Given the description of an element on the screen output the (x, y) to click on. 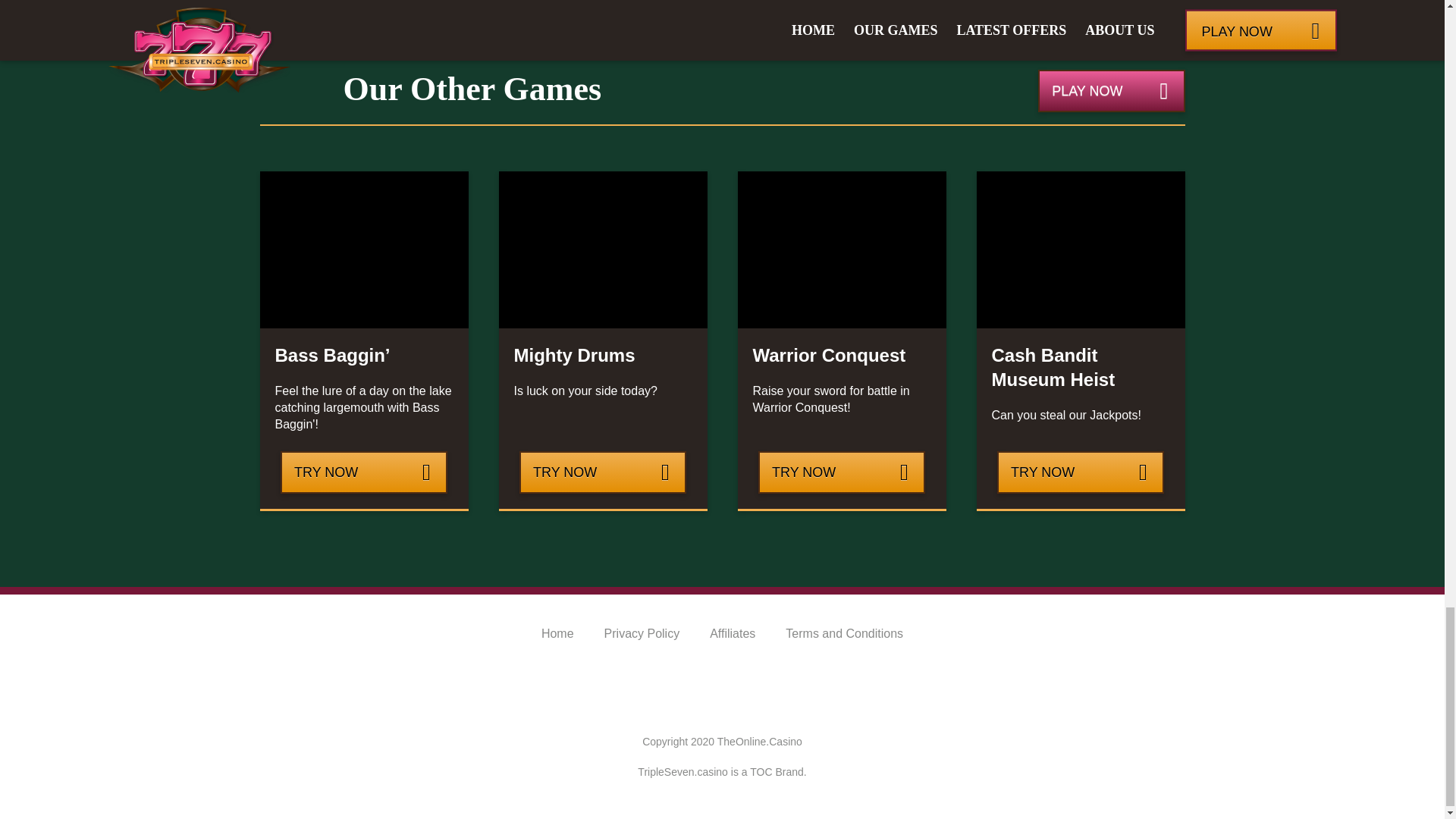
TRY NOW (602, 472)
TRY NOW (363, 472)
Home (557, 633)
TRY NOW (841, 472)
Affiliates (732, 633)
Privacy Policy (641, 633)
TRY NOW (1080, 472)
PLAY NOW (1111, 90)
Terms and Conditions (844, 633)
TheOnline.Casino (759, 741)
